Given the description of an element on the screen output the (x, y) to click on. 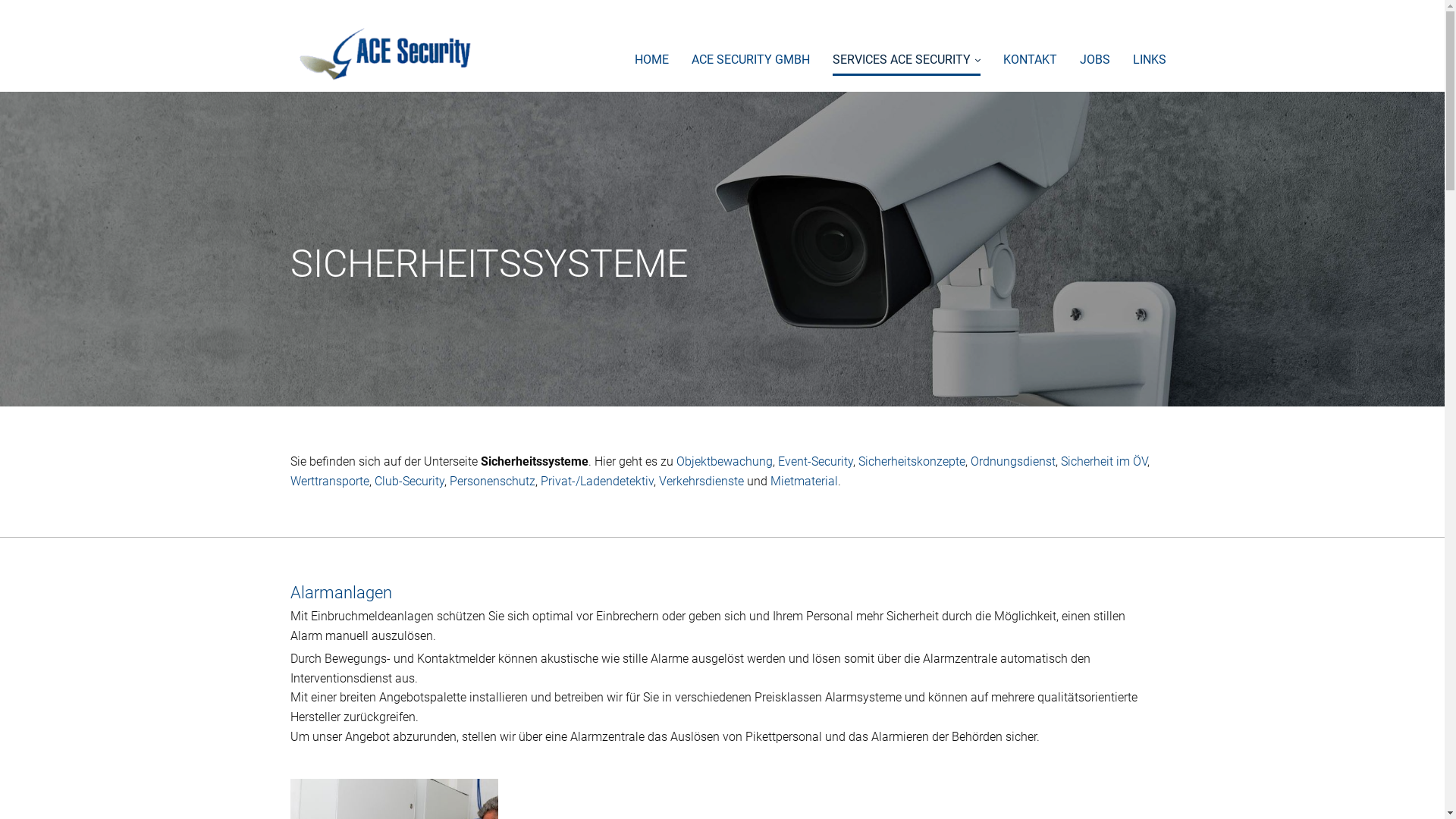
LINKS Element type: text (1149, 56)
Objektbewachung Element type: text (724, 461)
Ordnungsdienst Element type: text (1012, 461)
Verkehrsdienste Element type: text (700, 480)
Privat-/Ladendetektiv Element type: text (595, 480)
Sicherheitskonzepte Element type: text (911, 461)
SERVICES ACE SECURITY Element type: text (906, 56)
JOBS Element type: text (1094, 56)
Personenschutz Element type: text (491, 480)
Mietmaterial Element type: text (803, 480)
Werttransporte Element type: text (328, 480)
KONTAKT Element type: text (1029, 56)
HOME Element type: text (650, 56)
Event-Security Element type: text (815, 461)
Club-Security Element type: text (409, 480)
ACE SECURITY GMBH Element type: text (750, 56)
